Given the description of an element on the screen output the (x, y) to click on. 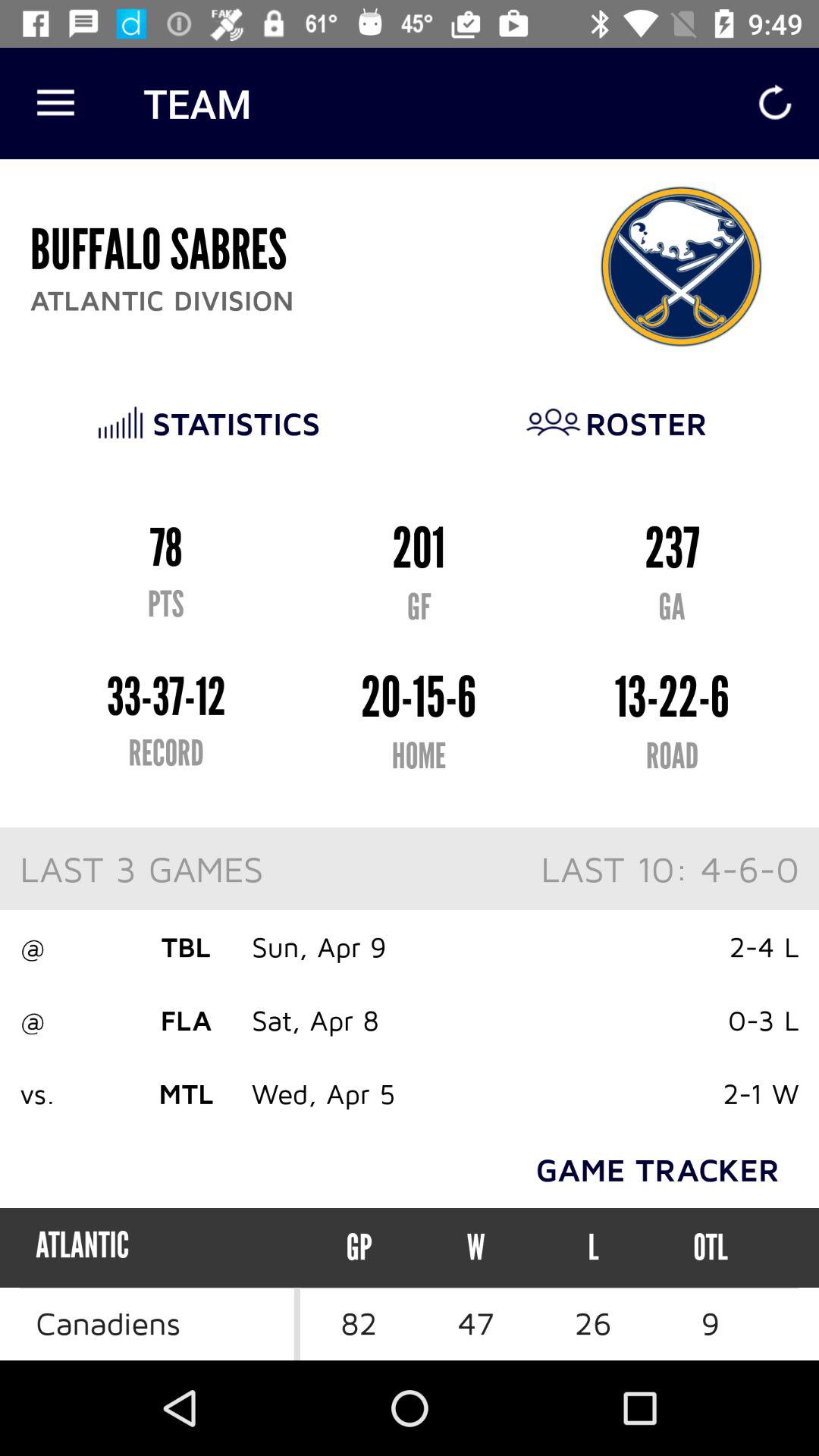
open icon next to the pts icon (709, 1247)
